Given the description of an element on the screen output the (x, y) to click on. 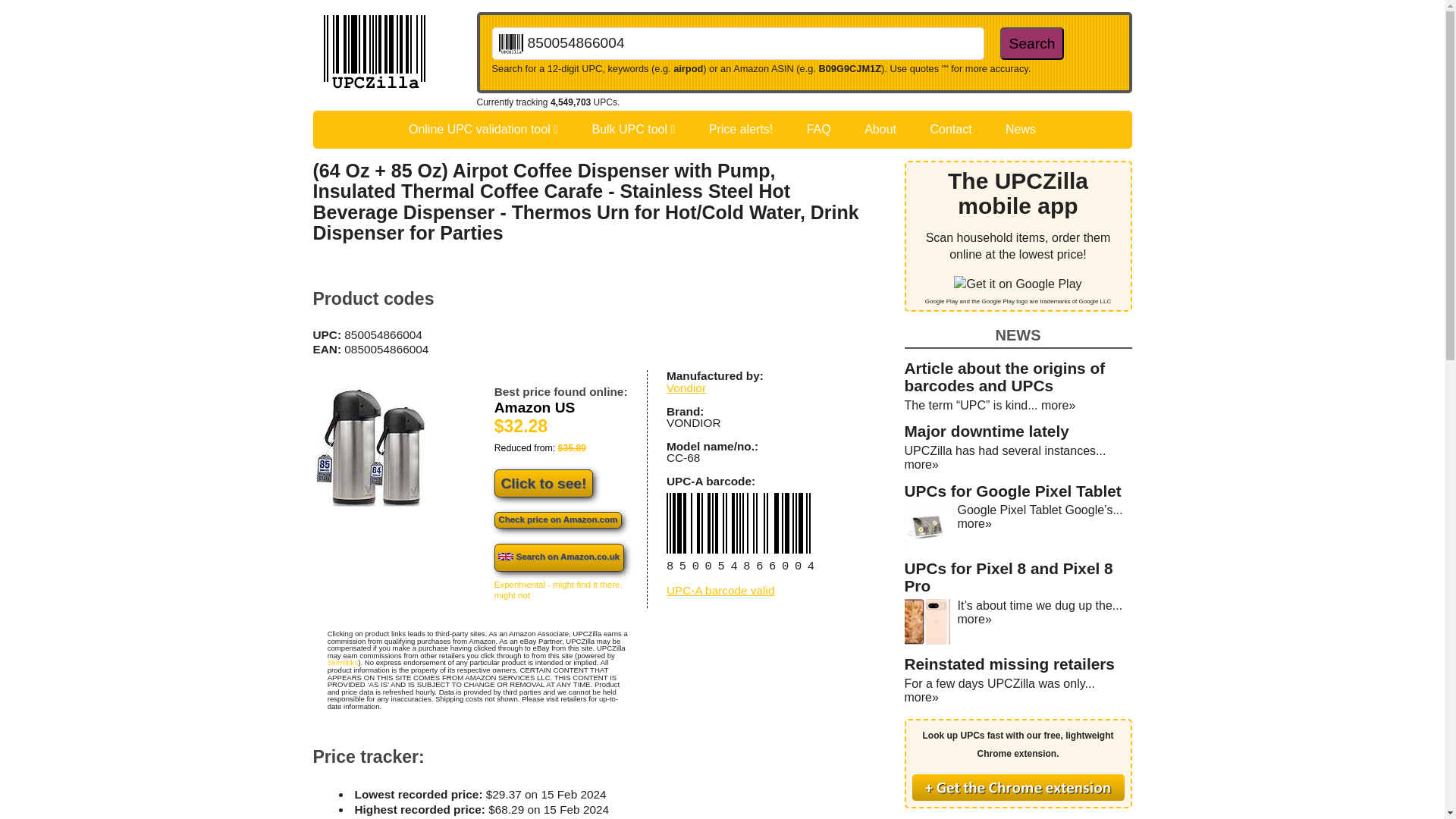
Skimlinks (342, 662)
Price alerts! (740, 129)
News (1020, 129)
UPCs for Google Pixel Tablet (1012, 490)
UPC-A barcode valid (720, 590)
Contact (950, 129)
About (879, 129)
UPCs for Google Pixel Tablet (1012, 490)
Major downtime lately (986, 430)
Reinstated missing retailers (1008, 663)
Major downtime lately (986, 430)
UPCZilla logo (374, 53)
850054866004 (738, 42)
Article about the origins of barcodes and UPCs (1004, 376)
